Given the description of an element on the screen output the (x, y) to click on. 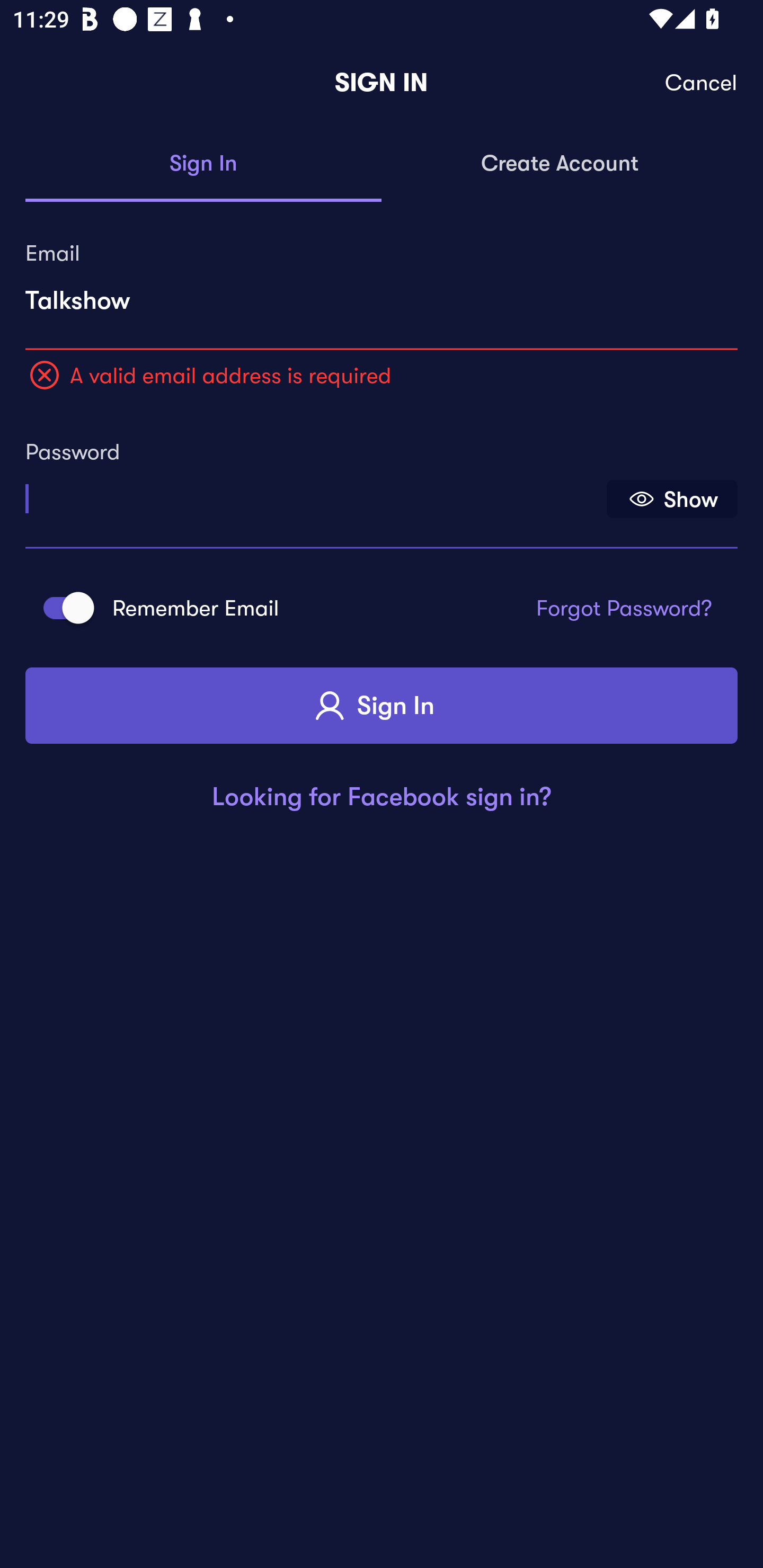
Cancel (701, 82)
Sign In (203, 164)
Create Account (559, 164)
Password (314, 493)
Show Password Show (671, 498)
Remember Email (62, 607)
Sign In (381, 705)
